Given the description of an element on the screen output the (x, y) to click on. 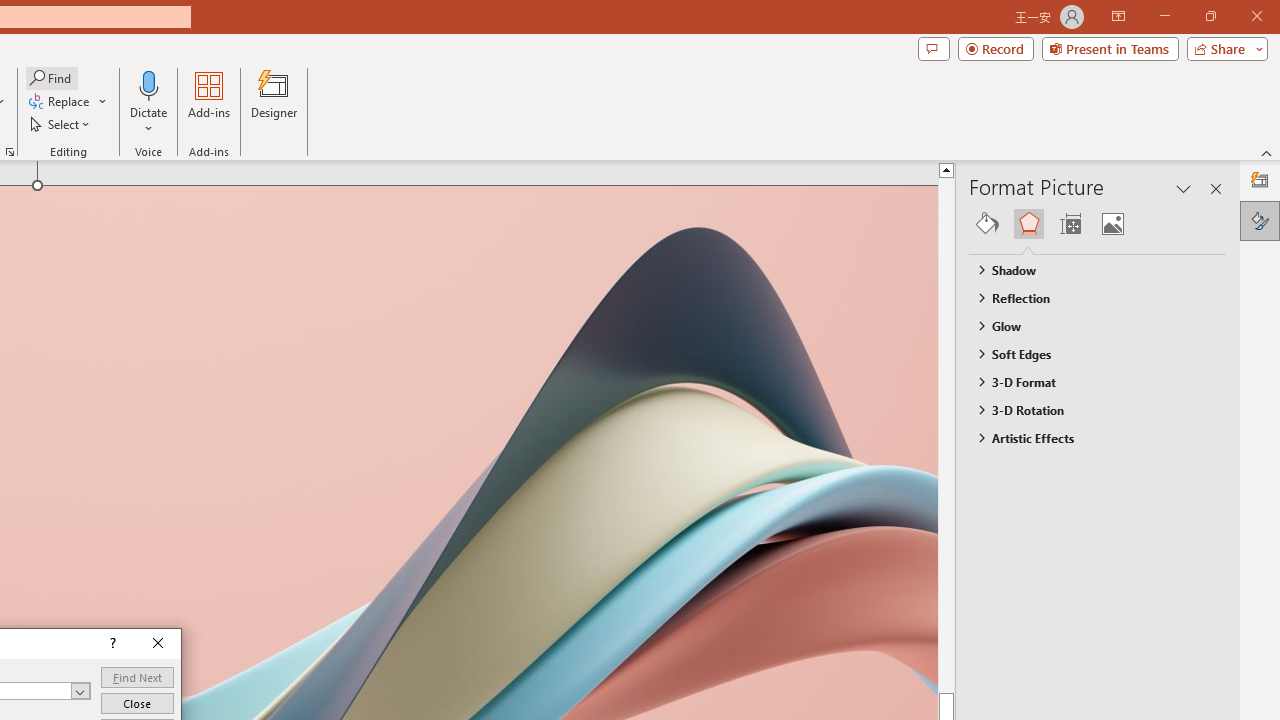
Effects (1028, 223)
3-D Format (1088, 381)
Format Picture (1260, 220)
Find... (51, 78)
Glow (1088, 325)
Fill & Line (987, 223)
Select (61, 124)
Artistic Effects (1088, 438)
